Given the description of an element on the screen output the (x, y) to click on. 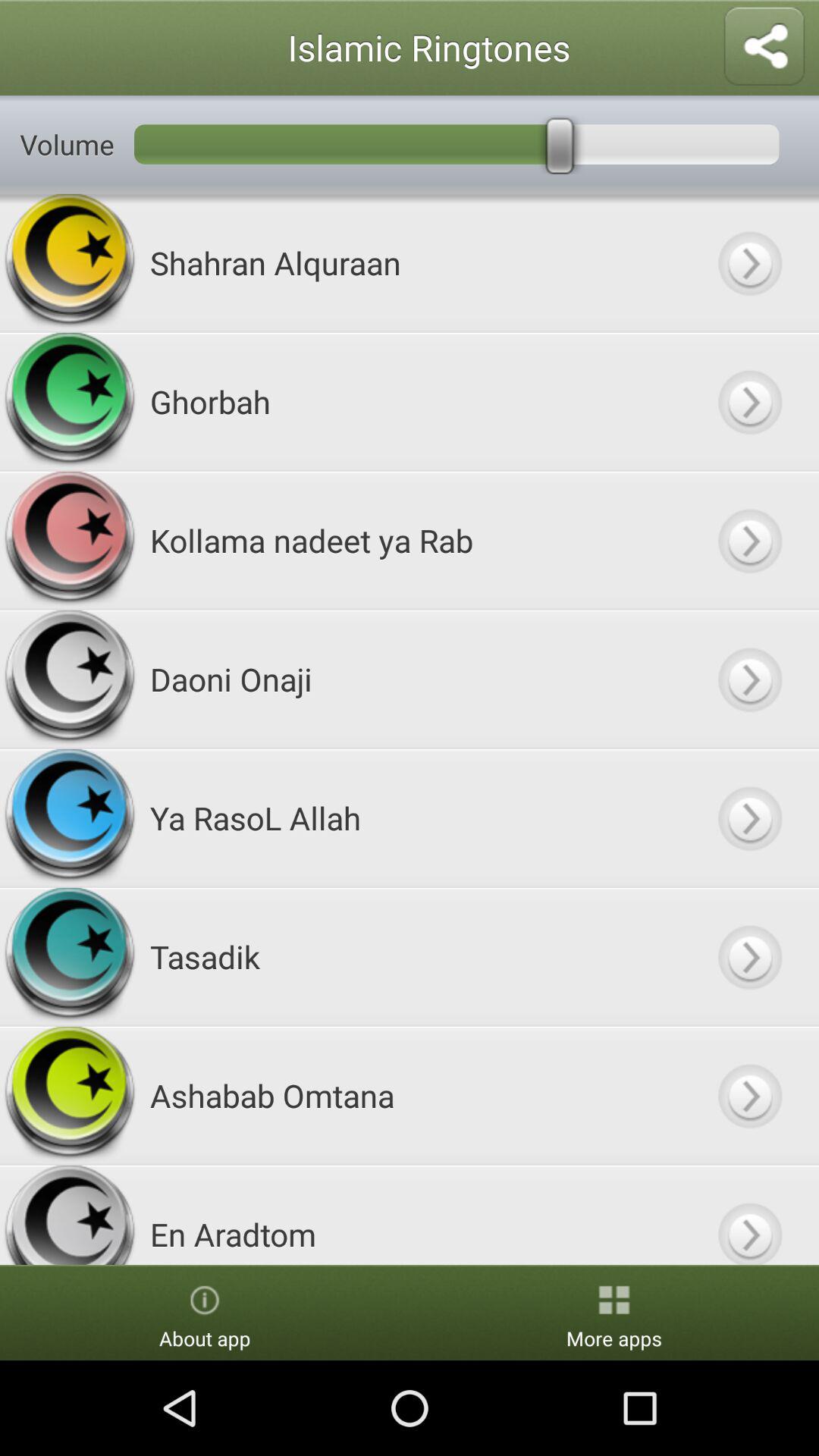
go to share (764, 47)
